Given the description of an element on the screen output the (x, y) to click on. 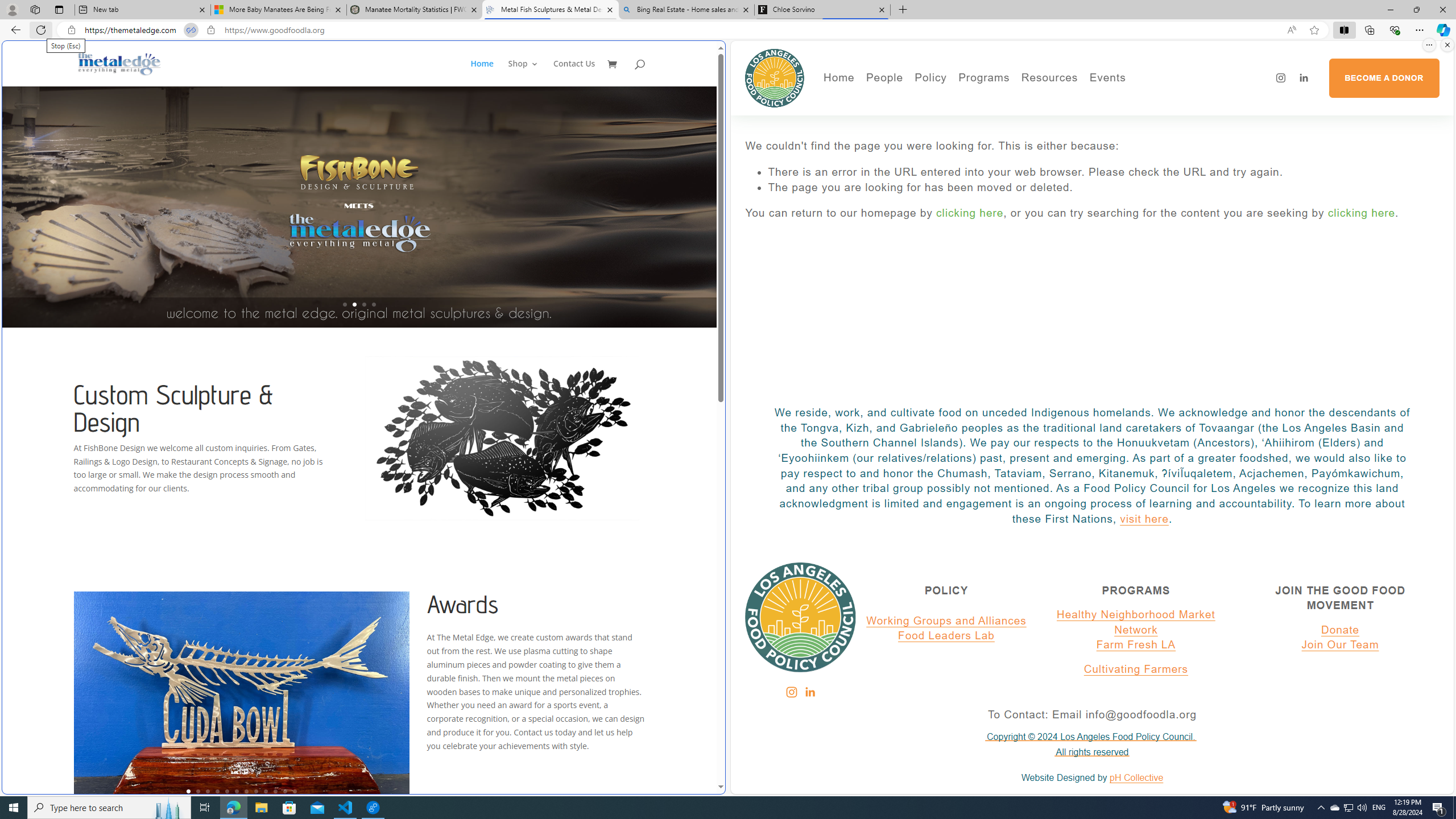
Los Angeles Food Policy Council (774, 77)
People (922, 116)
Cultivating Farmers  (1135, 669)
LinkedIn (809, 692)
Healthy Markets LA (1015, 99)
clicking here (1361, 213)
SoCal Impact Food Fund (1093, 116)
Join Our Team (1339, 645)
Bing Real Estate - Home sales and rental listings (685, 9)
3 (207, 790)
visit here (1144, 519)
Press (922, 132)
